Given the description of an element on the screen output the (x, y) to click on. 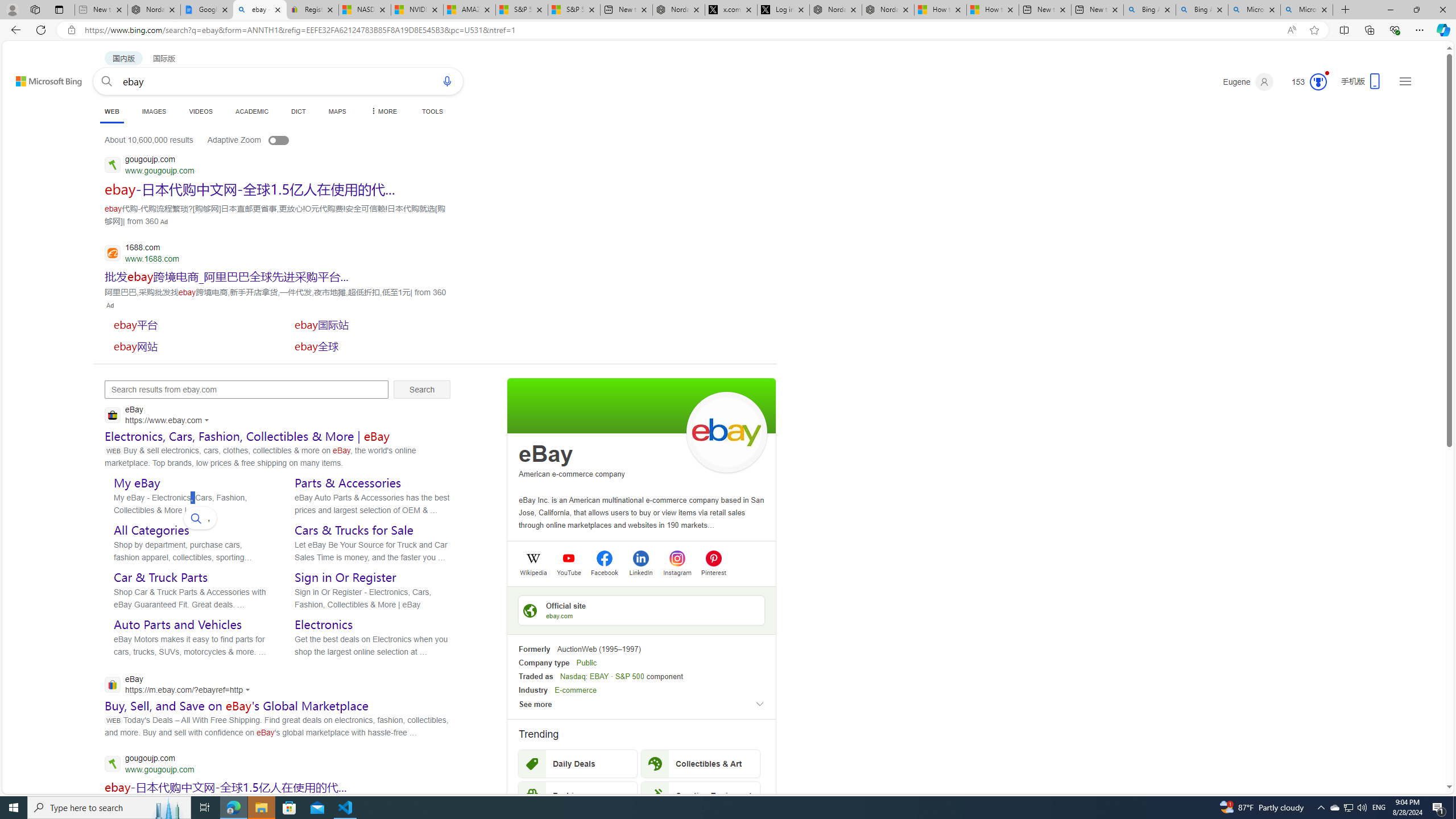
Official site ebay.com (641, 610)
Search button (106, 80)
Electronics (323, 624)
See more images of eBay (726, 431)
Auto Parts and Vehicles (177, 624)
Bing AI - Search (1201, 9)
Electronics, Cars, Fashion, Collectibles & More | eBay (247, 436)
VIDEOS (201, 111)
Daily Deals (577, 763)
Industry (533, 690)
